Given the description of an element on the screen output the (x, y) to click on. 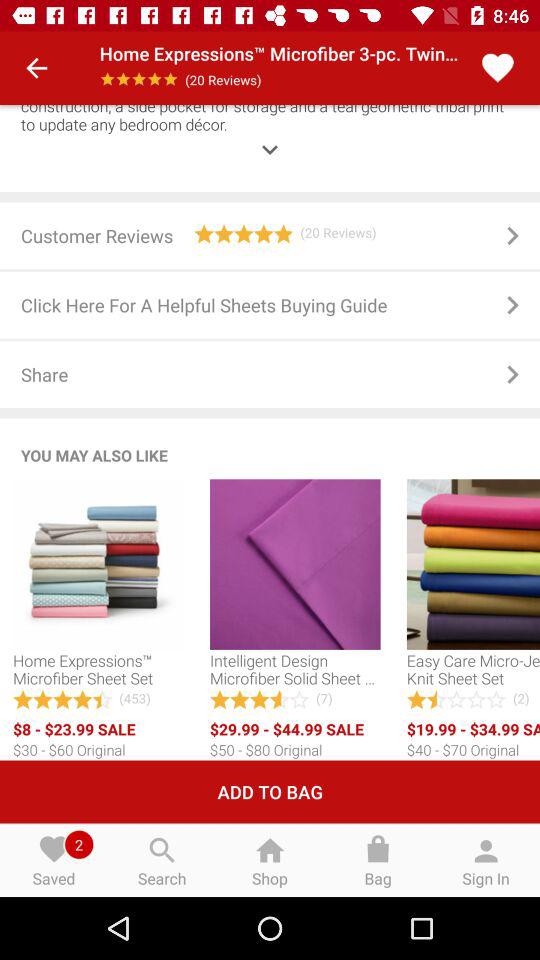
select favorites (498, 68)
